Given the description of an element on the screen output the (x, y) to click on. 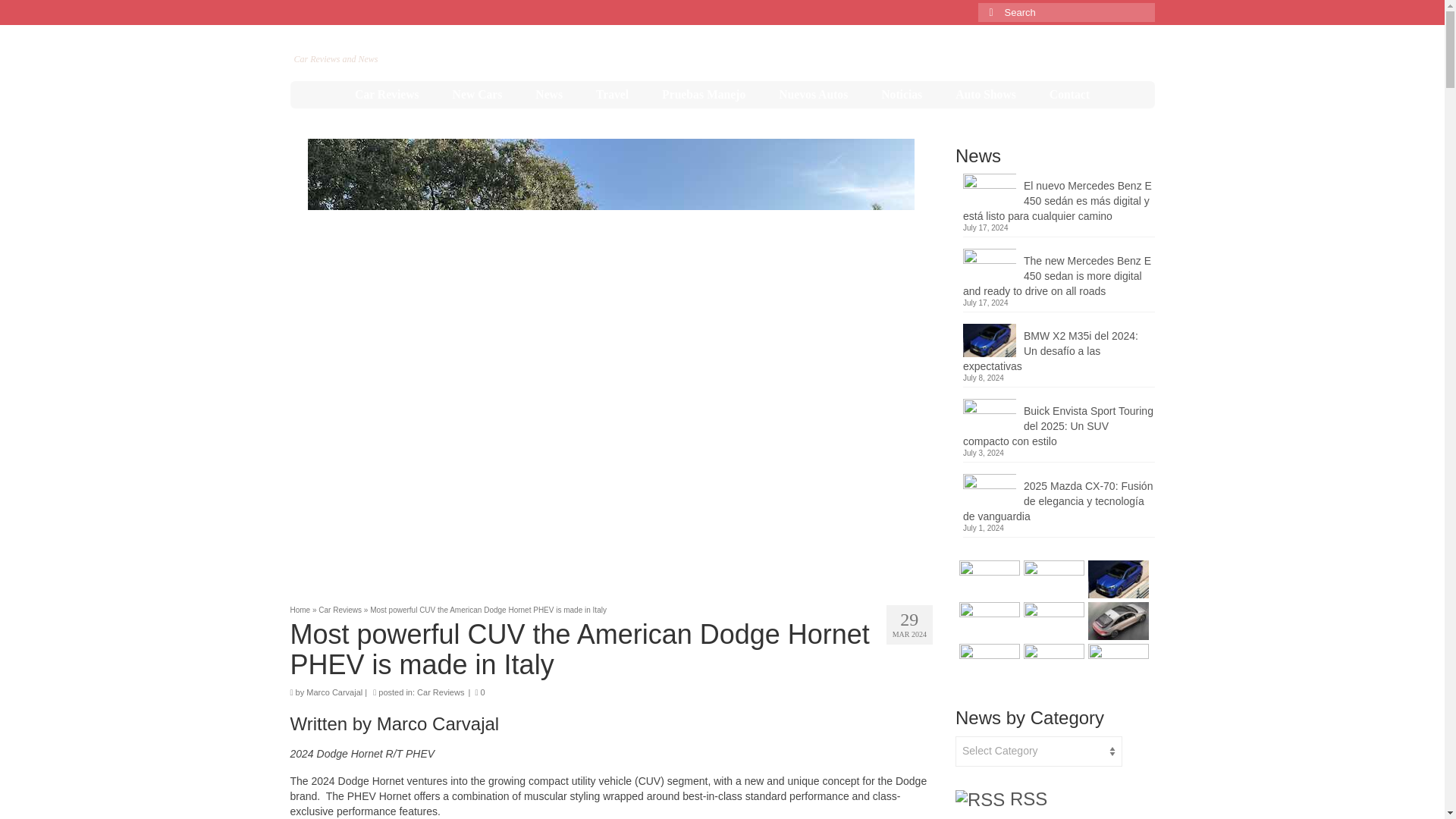
Travel (611, 94)
Nuevos Autos (812, 94)
Contact (1069, 94)
Car Reviews (386, 94)
Pruebas Manejo (703, 94)
Noticias (901, 94)
AutomotorMassachusetts.com (432, 42)
Auto Shows (985, 94)
New Cars (478, 94)
AutomotorMassachusetts.com (432, 42)
News (548, 94)
